Given the description of an element on the screen output the (x, y) to click on. 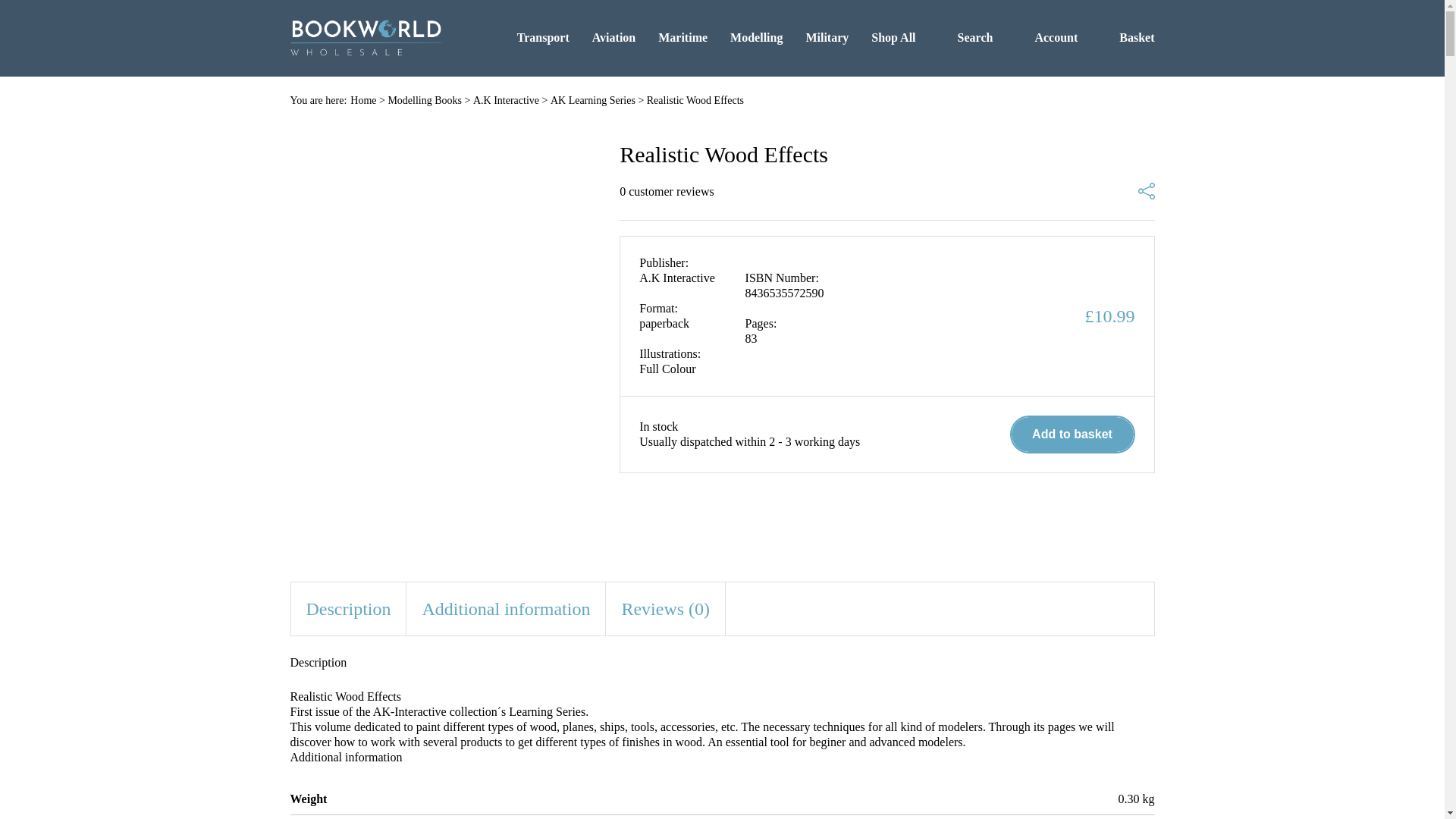
Additional information (505, 608)
0 customer reviews (666, 191)
AK Learning Series (592, 100)
Home (362, 100)
Add to basket (1072, 434)
Modelling (756, 37)
Basket (1127, 37)
Search (965, 37)
A.K Interactive (505, 100)
Transport (542, 37)
